Given the description of an element on the screen output the (x, y) to click on. 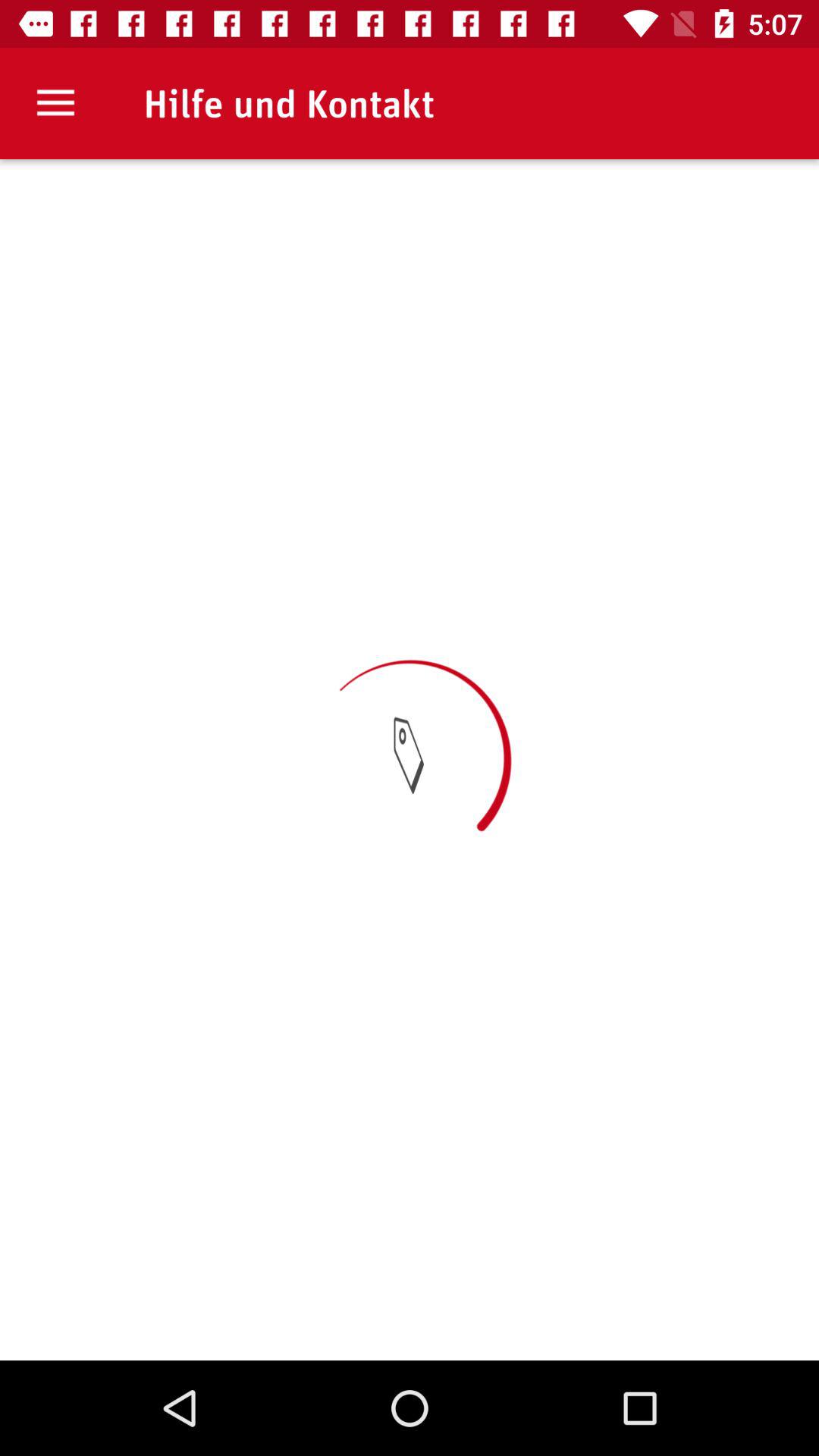
choose the hilfe und kontakt item (288, 103)
